Given the description of an element on the screen output the (x, y) to click on. 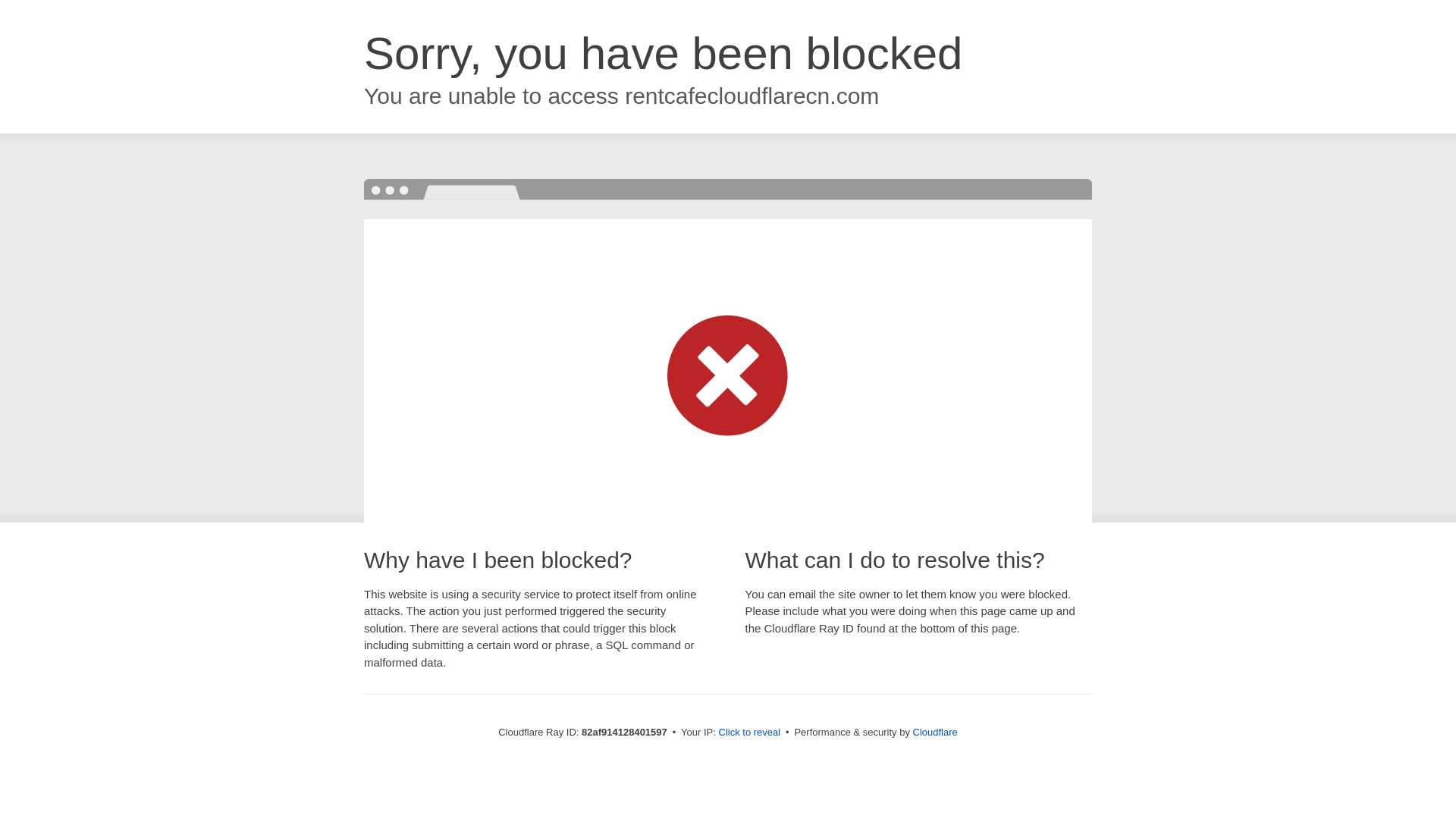
Cloudflare Element type: text (935, 731)
Click to reveal Element type: text (749, 732)
